Given the description of an element on the screen output the (x, y) to click on. 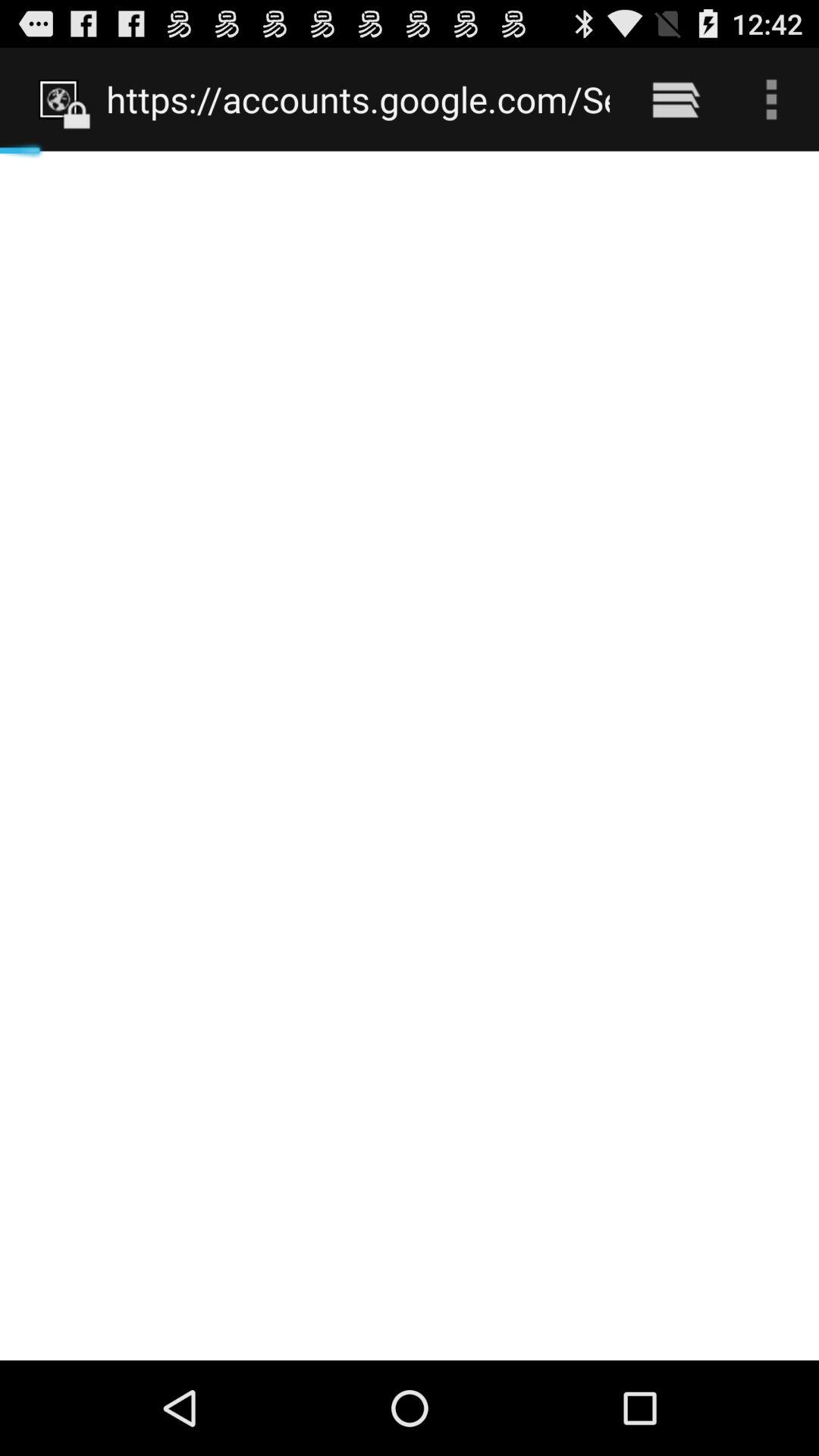
press the item next to the https accounts google item (675, 99)
